Given the description of an element on the screen output the (x, y) to click on. 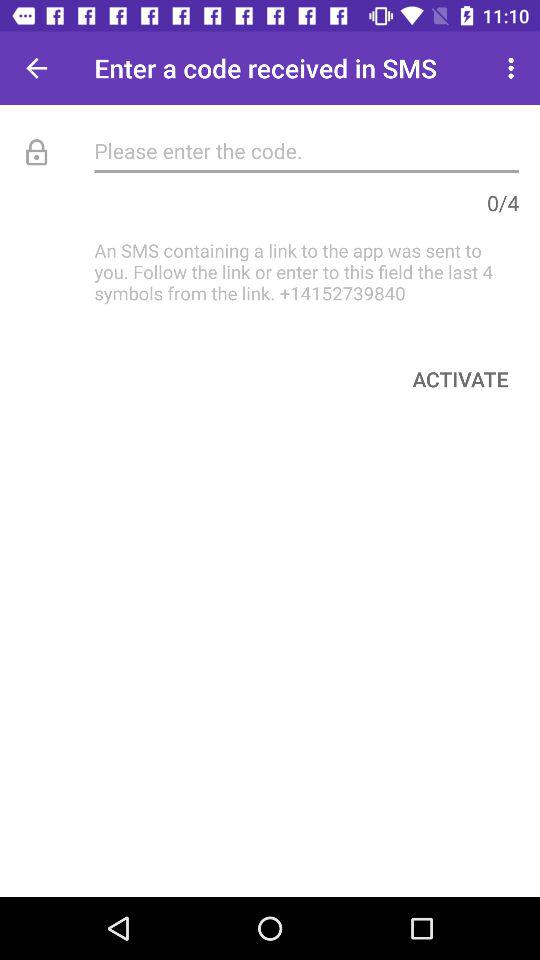
launch the item at the top right corner (513, 67)
